Given the description of an element on the screen output the (x, y) to click on. 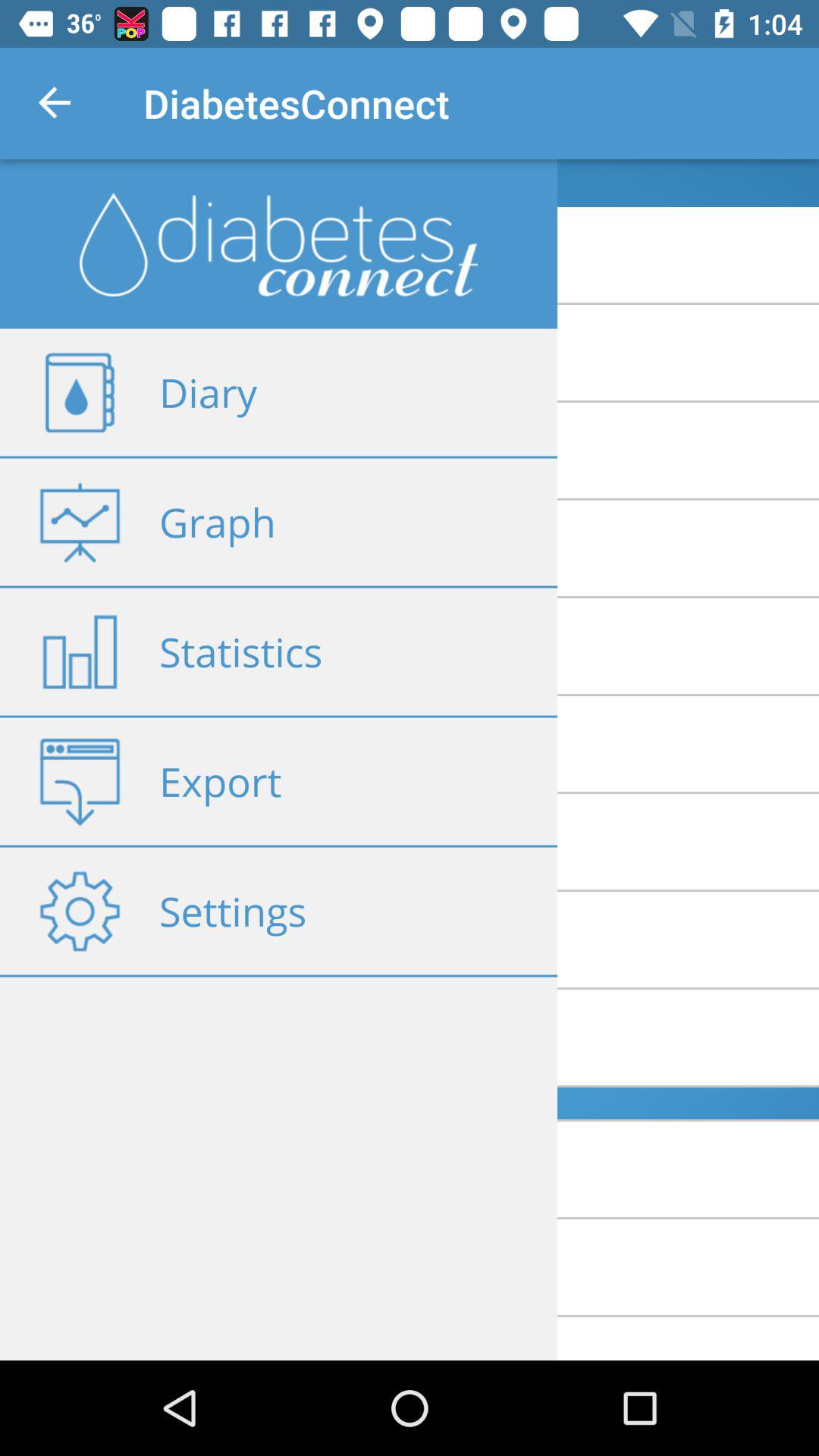
click on the icon on the left side of graph (79, 522)
click on icon on the left side of statistics (79, 652)
